Given the description of an element on the screen output the (x, y) to click on. 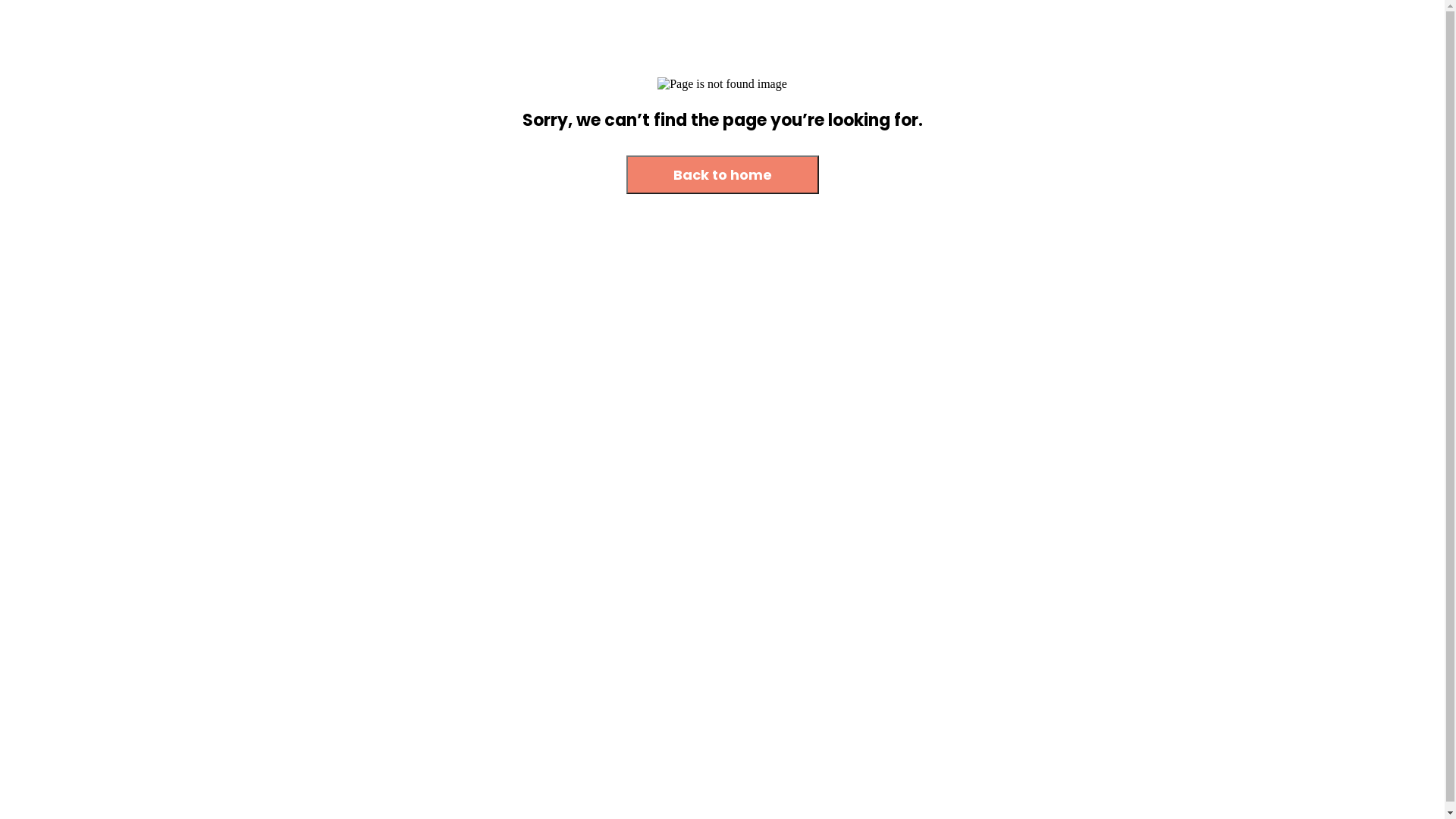
Back to home Element type: text (722, 175)
Back to home Element type: text (722, 174)
